Given the description of an element on the screen output the (x, y) to click on. 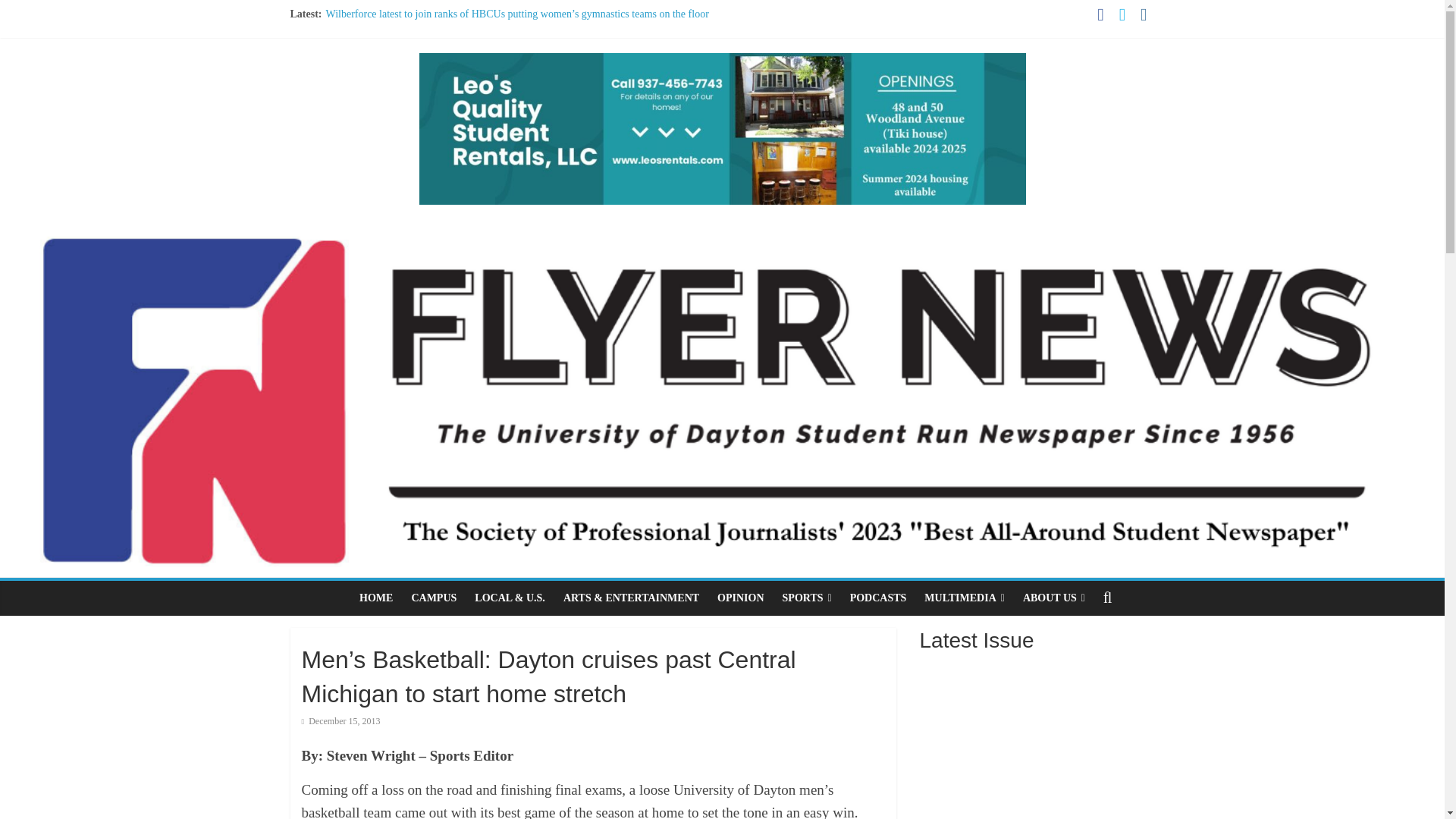
6:13 PM (340, 720)
ABOUT US (1053, 597)
OPINION (740, 597)
CAMPUS (433, 597)
December 15, 2013 (340, 720)
SPORTS (807, 597)
PODCASTS (878, 597)
MULTIMEDIA (964, 597)
HOME (375, 597)
